Given the description of an element on the screen output the (x, y) to click on. 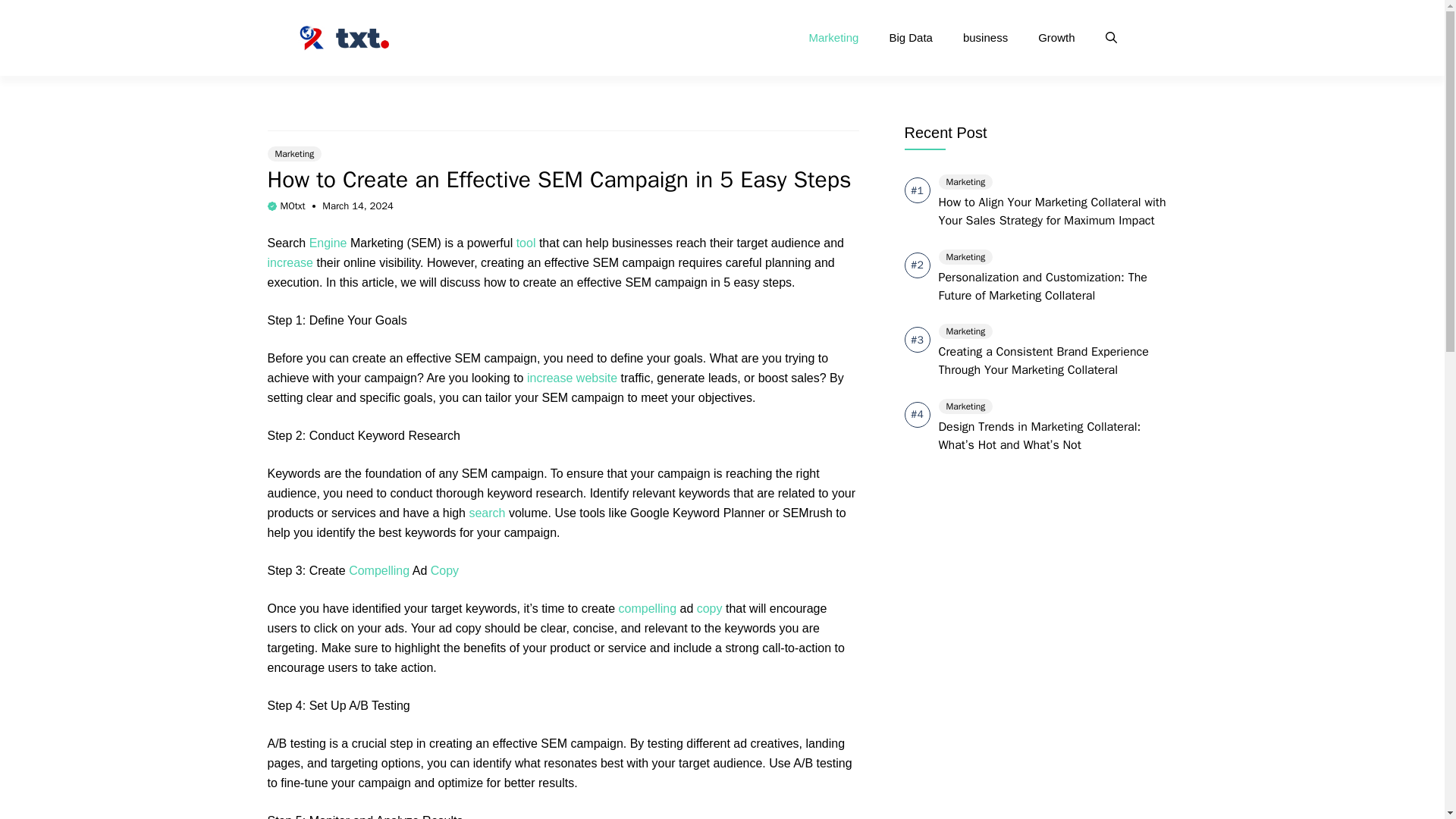
MOtxt (293, 205)
copy (709, 608)
Compelling (379, 570)
Posts tagged with Search (486, 512)
Posts tagged with Tool (525, 242)
Posts tagged with Copy (444, 570)
Marketing (834, 37)
Posts tagged with Copy (709, 608)
Growth (1056, 37)
Posts tagged with Increase (289, 262)
